Given the description of an element on the screen output the (x, y) to click on. 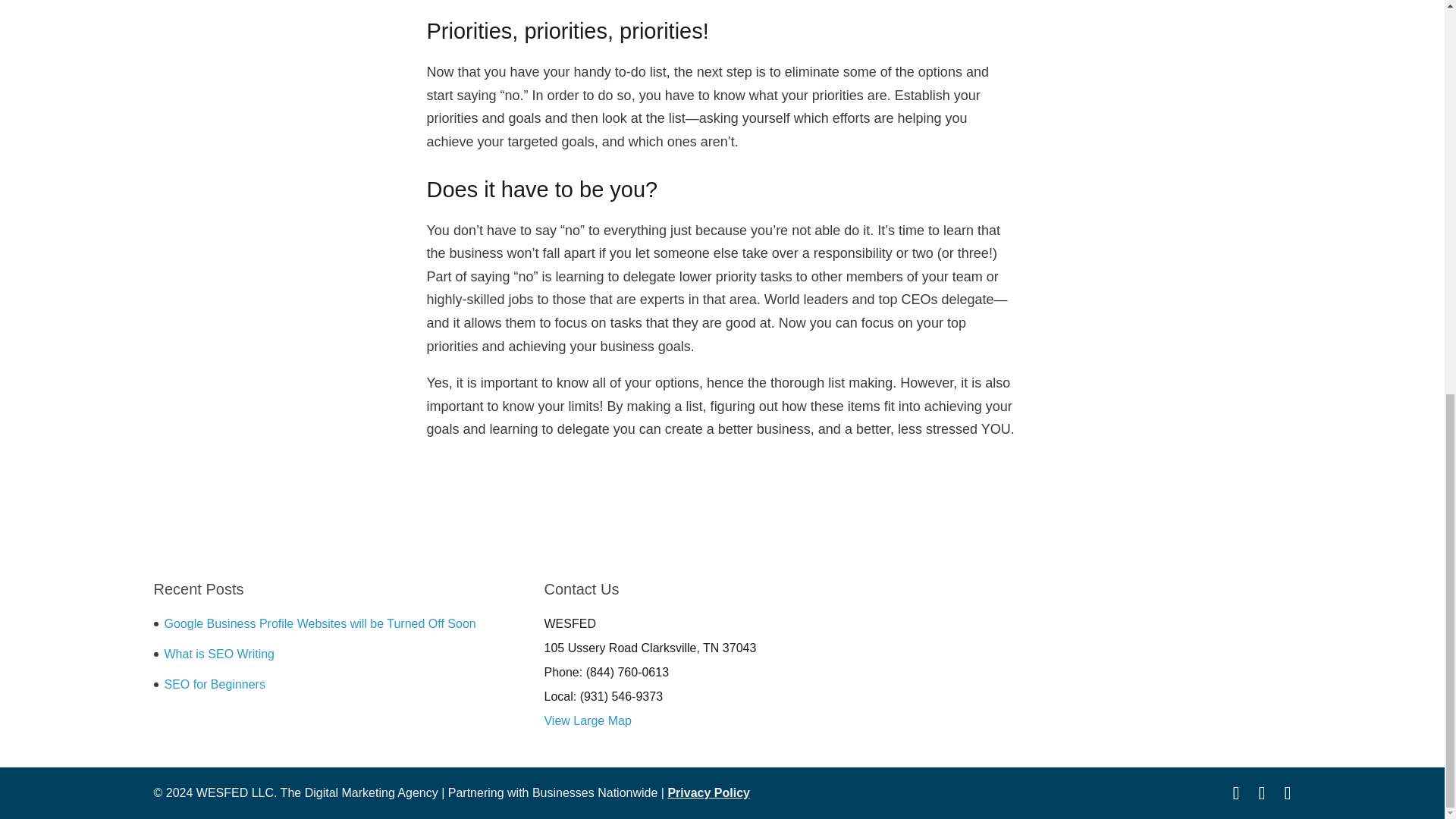
View Large Map (586, 720)
What is SEO Writing (219, 653)
SEO for Beginners (213, 684)
Google Business Profile Websites will be Turned Off Soon (319, 623)
Privacy Policy (707, 792)
